Given the description of an element on the screen output the (x, y) to click on. 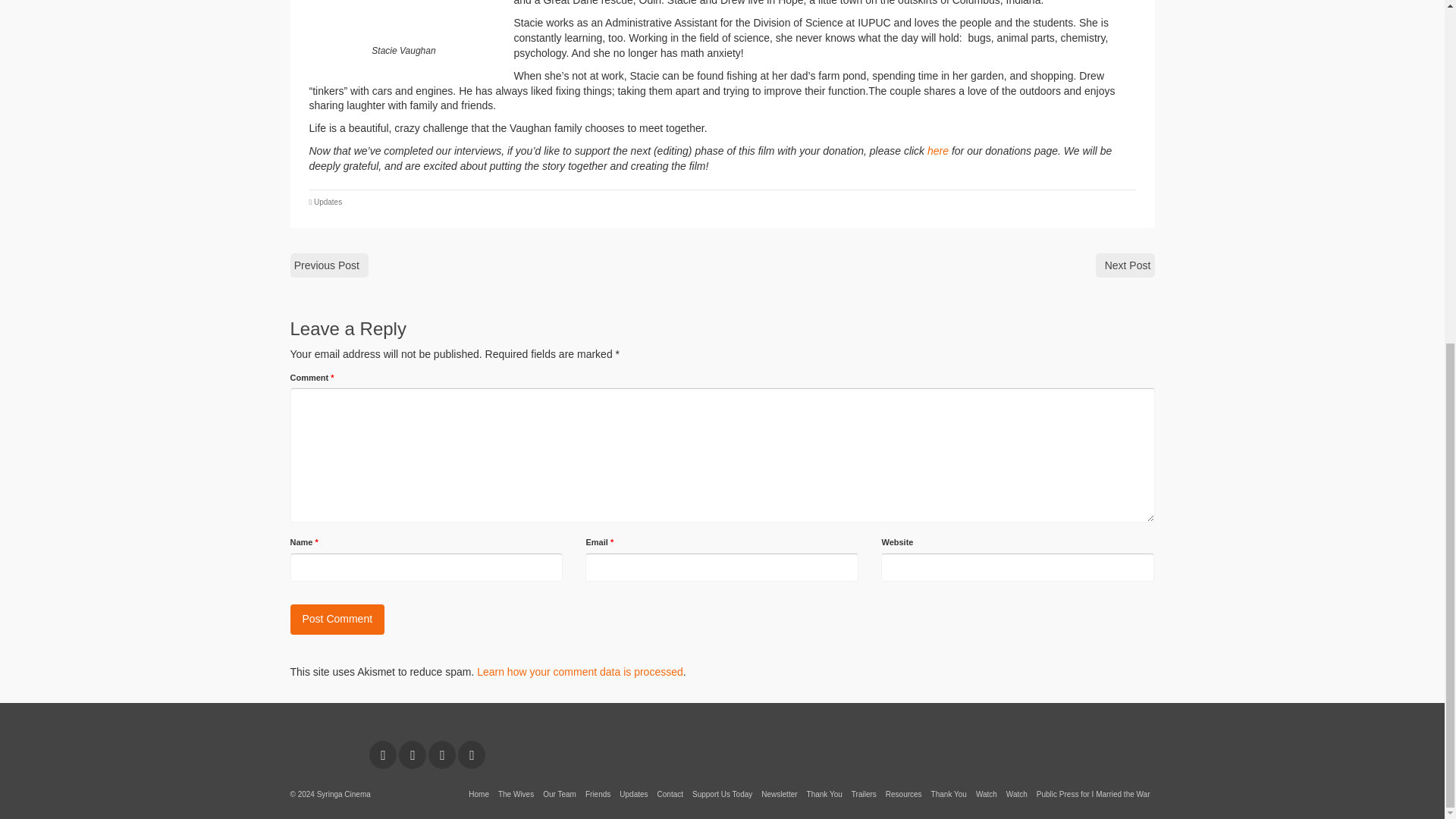
Post Comment (336, 619)
Facebook (382, 755)
Home (478, 794)
Next Post (1125, 265)
Previous Post (328, 265)
Post Comment (336, 619)
Updates (328, 202)
Learn how your comment data is processed (579, 671)
Instagram (412, 755)
Pinterest (441, 755)
